Given the description of an element on the screen output the (x, y) to click on. 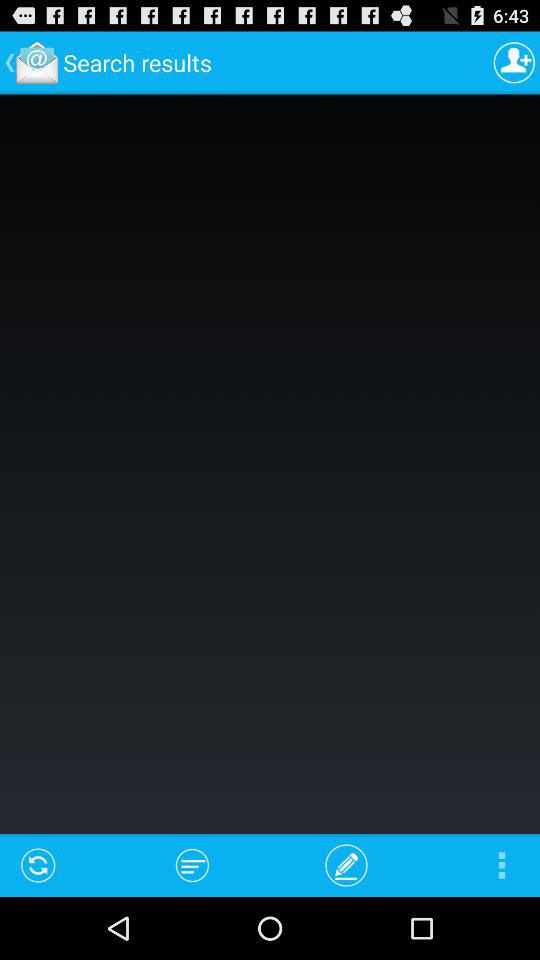
turn on item at the bottom left corner (38, 864)
